Given the description of an element on the screen output the (x, y) to click on. 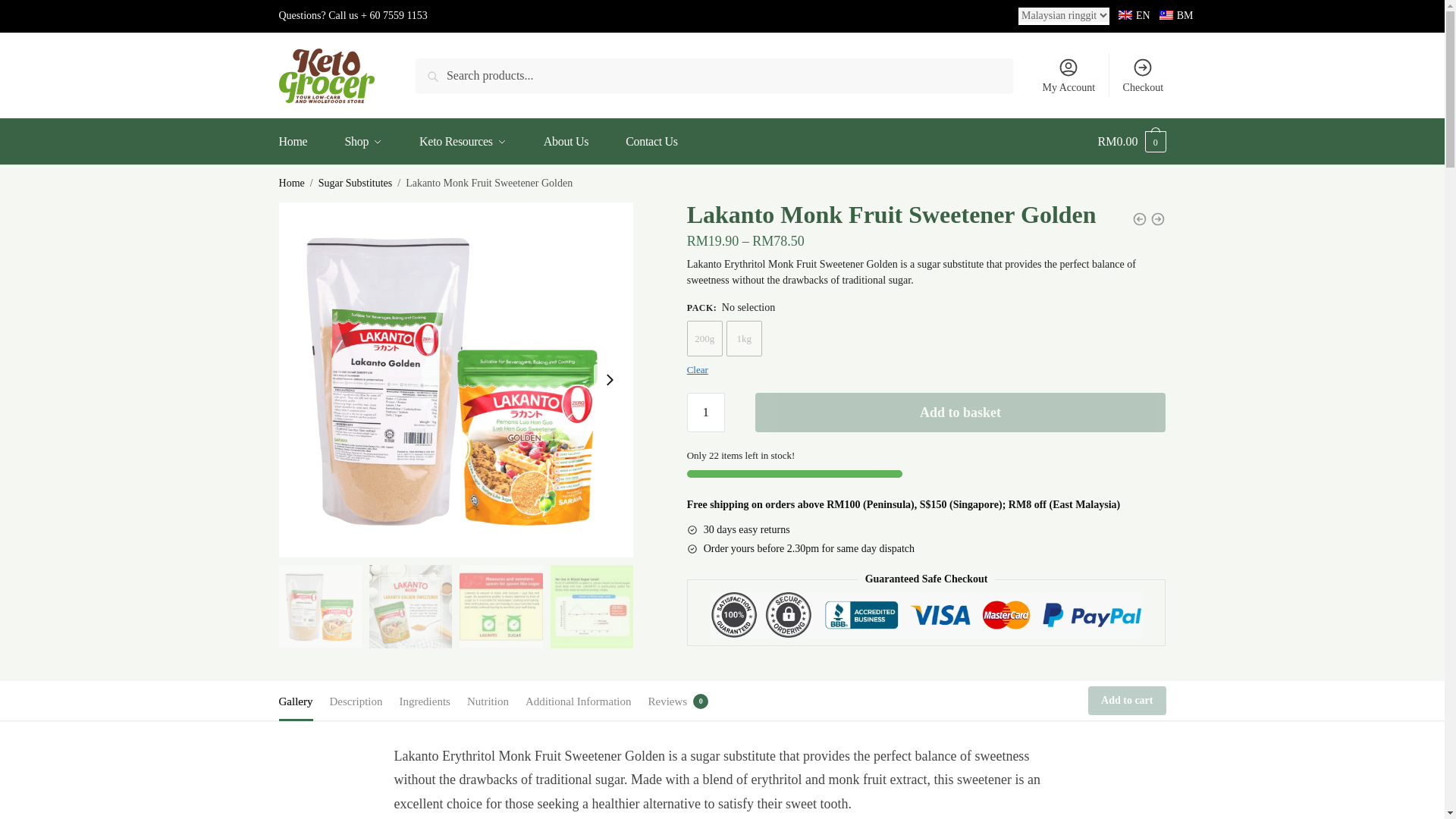
My Account (1067, 75)
View your shopping cart (1131, 141)
About Us (566, 141)
Keto Resources (462, 141)
BM (1174, 14)
Home (302, 141)
Shop (363, 141)
Contact Us (651, 141)
Bahasa Melayu (1165, 14)
Search (453, 77)
